Given the description of an element on the screen output the (x, y) to click on. 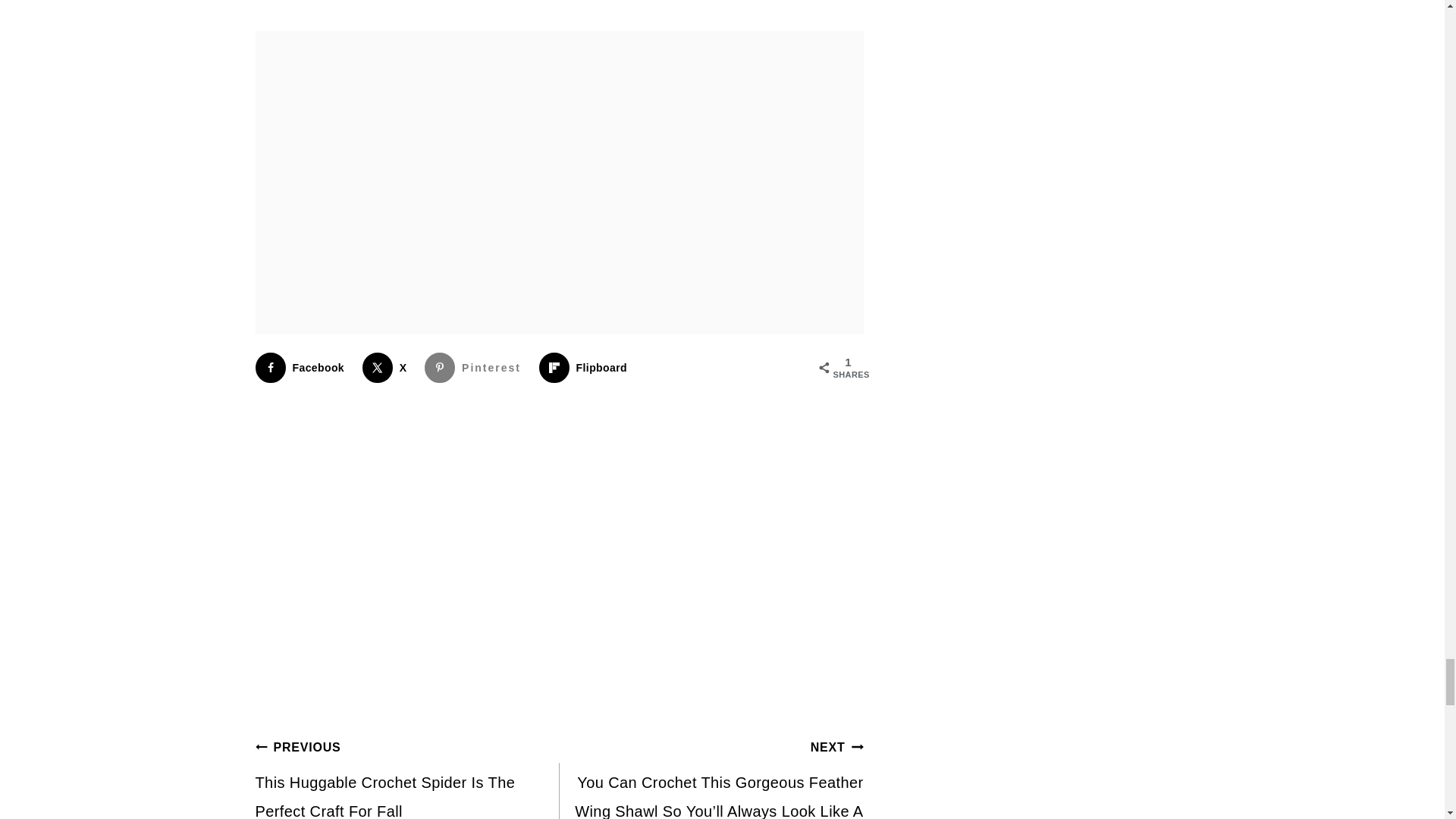
Save to Pinterest (476, 367)
Share on Flipboard (585, 367)
Share on X (387, 367)
Share on Facebook (302, 367)
